Given the description of an element on the screen output the (x, y) to click on. 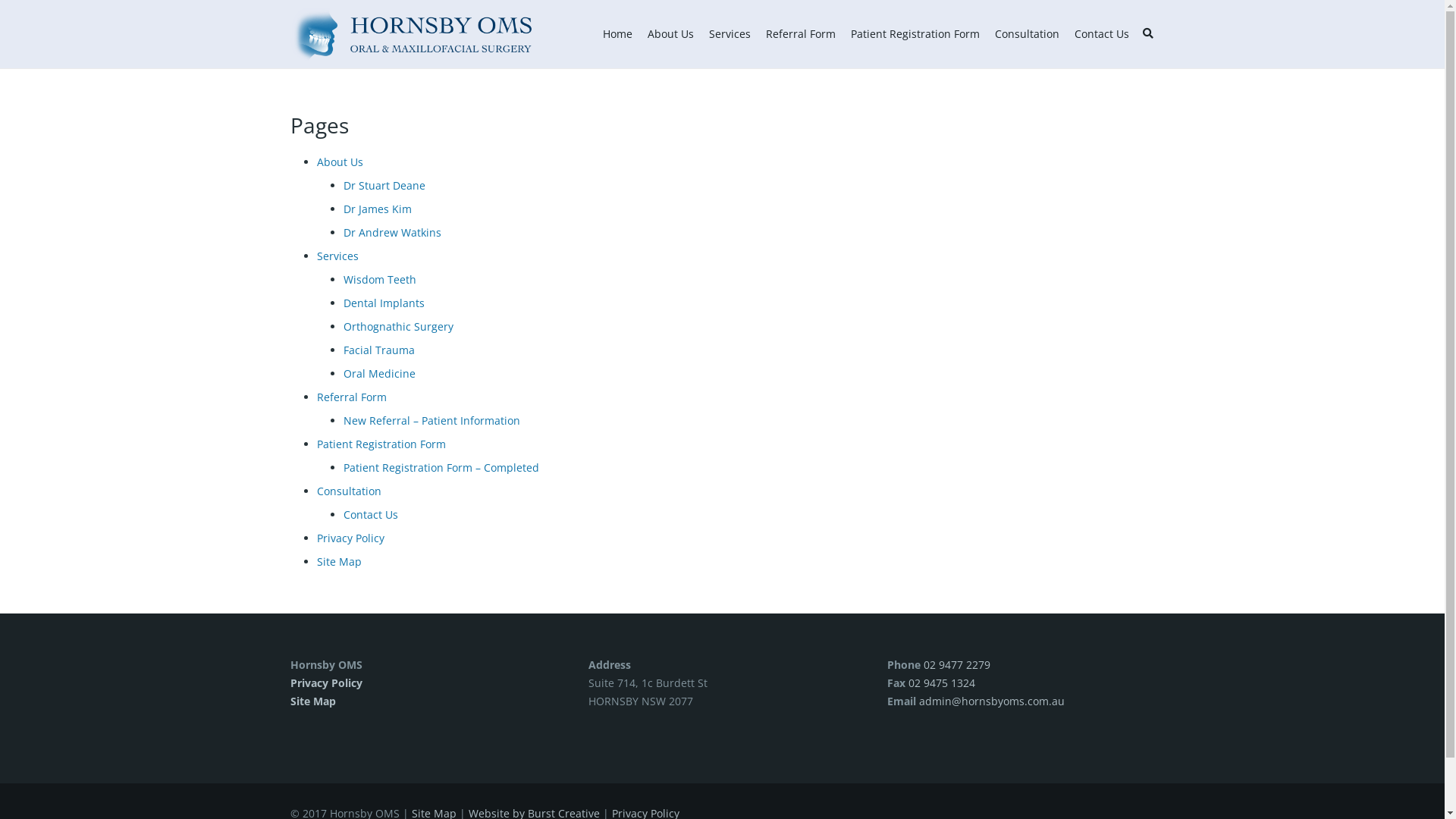
Privacy Policy Element type: text (350, 537)
About Us Element type: text (670, 34)
Dr James Kim Element type: text (376, 208)
Oral Medicine Element type: text (378, 373)
02 9475 1324 Element type: text (941, 682)
Site Map Element type: text (312, 700)
Dr Andrew Watkins Element type: text (391, 232)
Dr Stuart Deane Element type: text (383, 185)
Consultation Element type: text (1026, 34)
02 9477 2279 Element type: text (956, 664)
Home Element type: text (617, 34)
Services Element type: text (729, 34)
Consultation Element type: text (348, 490)
Orthognathic Surgery Element type: text (397, 326)
Site Map Element type: text (338, 561)
Wisdom Teeth Element type: text (378, 279)
Patient Registration Form Element type: text (915, 34)
Facial Trauma Element type: text (378, 349)
About Us Element type: text (339, 161)
Dental Implants Element type: text (382, 302)
Referral Form Element type: text (800, 34)
Contact Us Element type: text (1101, 34)
Patient Registration Form Element type: text (380, 443)
Contact Us Element type: text (369, 514)
Services Element type: text (337, 255)
admin@hornsbyoms.com.au Element type: text (991, 700)
Privacy Policy Element type: text (325, 682)
Referral Form Element type: text (351, 396)
